Given the description of an element on the screen output the (x, y) to click on. 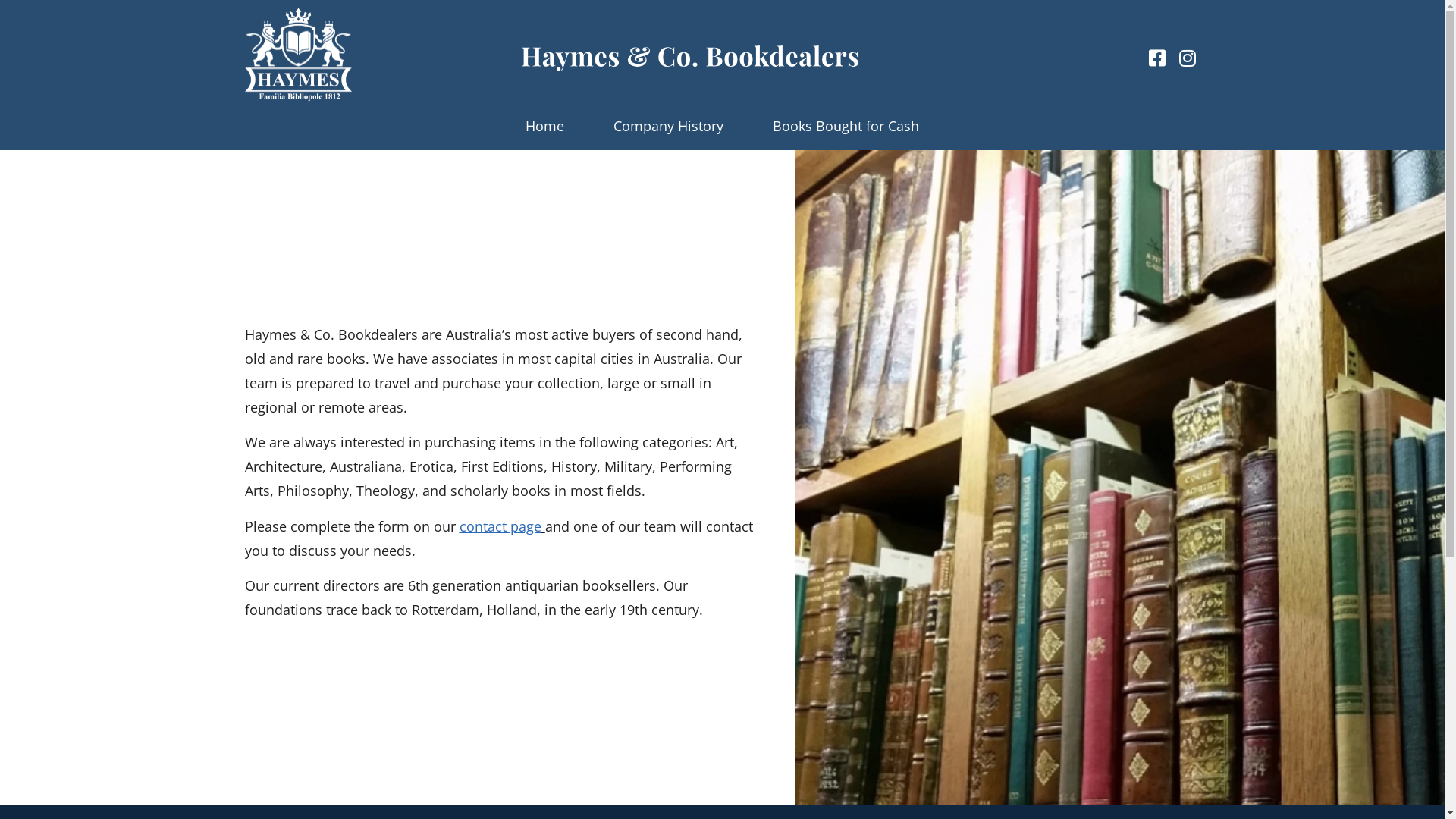
Home Element type: text (544, 125)
contact page Element type: text (500, 526)
Books Bought for Cash Element type: text (845, 125)
Company History Element type: text (668, 125)
